Given the description of an element on the screen output the (x, y) to click on. 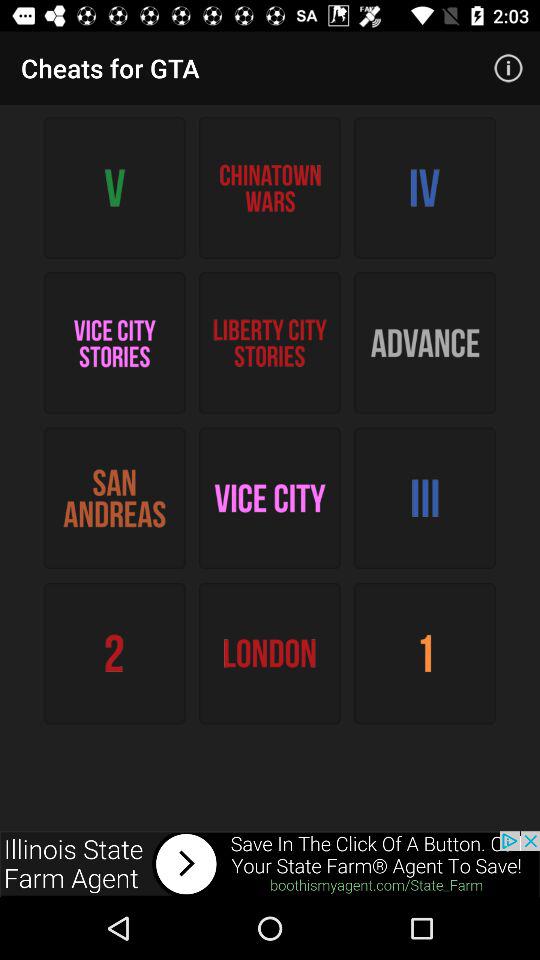
link button (270, 864)
